Given the description of an element on the screen output the (x, y) to click on. 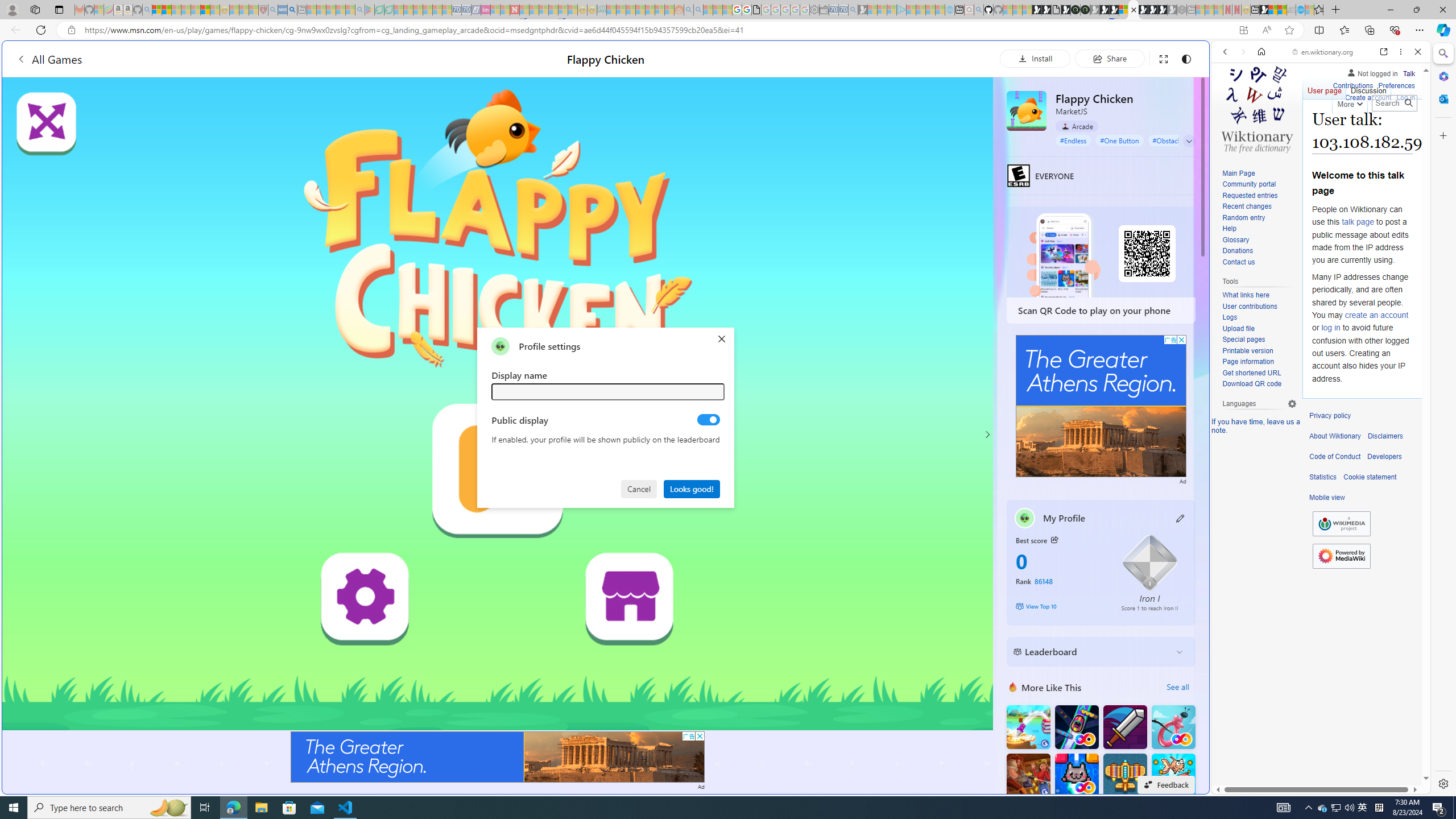
Not logged in (1371, 71)
google - Search - Sleeping (359, 9)
Code of Conduct (1334, 456)
Sign in to your account (1123, 9)
Printable version (1247, 350)
Discussion (1367, 87)
Tabs you've opened (885, 151)
DITOGAMES AG Imprint - Sleeping (601, 9)
Preferences (1403, 129)
Services - Maintenance | Sky Blue Bikes - Sky Blue Bikes (1300, 9)
Cookie statement (1369, 477)
